Given the description of an element on the screen output the (x, y) to click on. 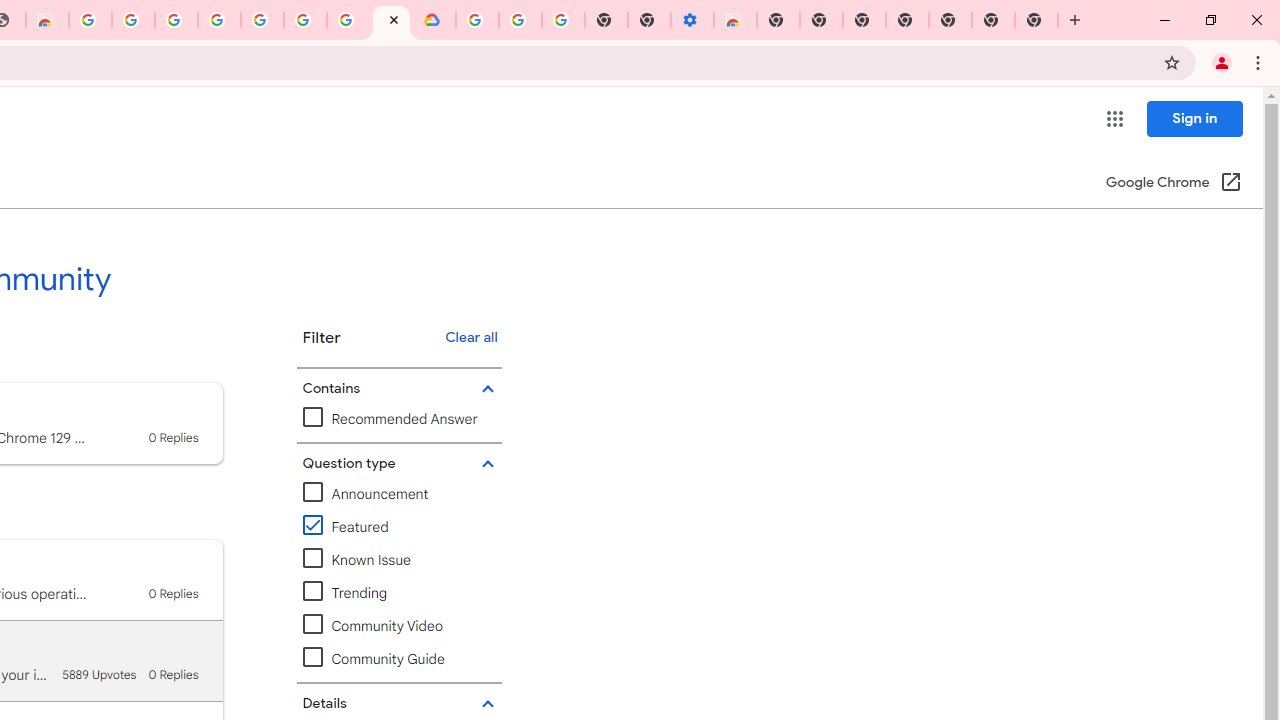
 Contains filter group  (396, 388)
 Question type filter group  (396, 463)
Clear all (471, 337)
Community Video (399, 626)
Sign in - Google Accounts (477, 20)
Google Chrome (Open in a new window) (1173, 183)
Chrome Web Store - Accessibility extensions (735, 20)
New Tab (777, 20)
Announcement (399, 493)
Google Account Help (520, 20)
